Given the description of an element on the screen output the (x, y) to click on. 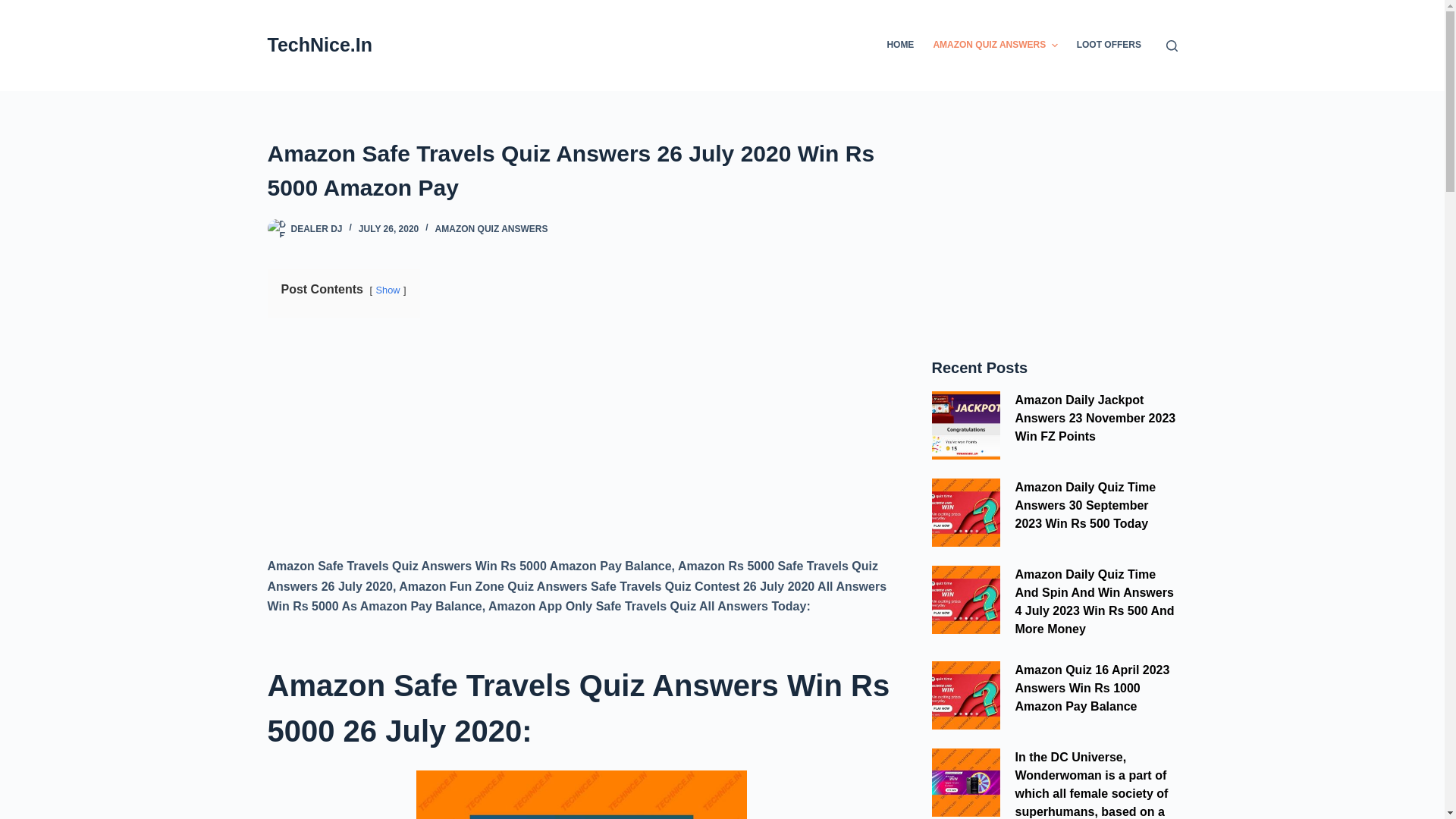
Advertisement (1053, 230)
AMAZON QUIZ ANSWERS (995, 45)
LOOT OFFERS (1108, 45)
Amazon Daily Jackpot Answers 23 November 2023 Win FZ Points (964, 425)
Amazon Daily Jackpot Answers 23 November 2023 Win FZ Points (1094, 418)
Show (387, 289)
AMAZON QUIZ ANSWERS (491, 228)
